Given the description of an element on the screen output the (x, y) to click on. 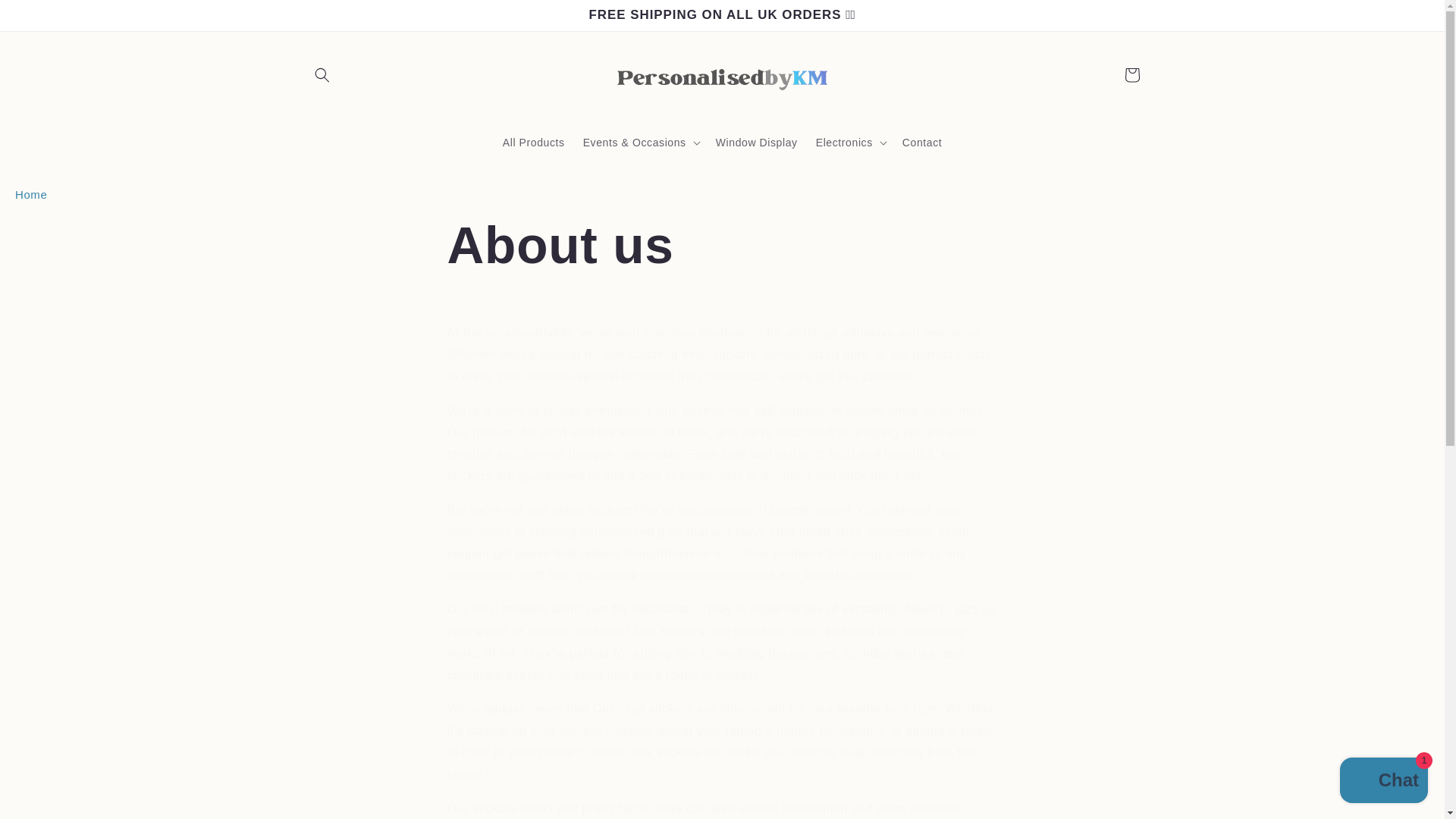
Skip to content (45, 17)
About us (721, 244)
Window Display (756, 142)
Home (30, 194)
Cart (1131, 74)
Contact (921, 142)
Shopify online store chat (1383, 781)
All Products (533, 142)
